Given the description of an element on the screen output the (x, y) to click on. 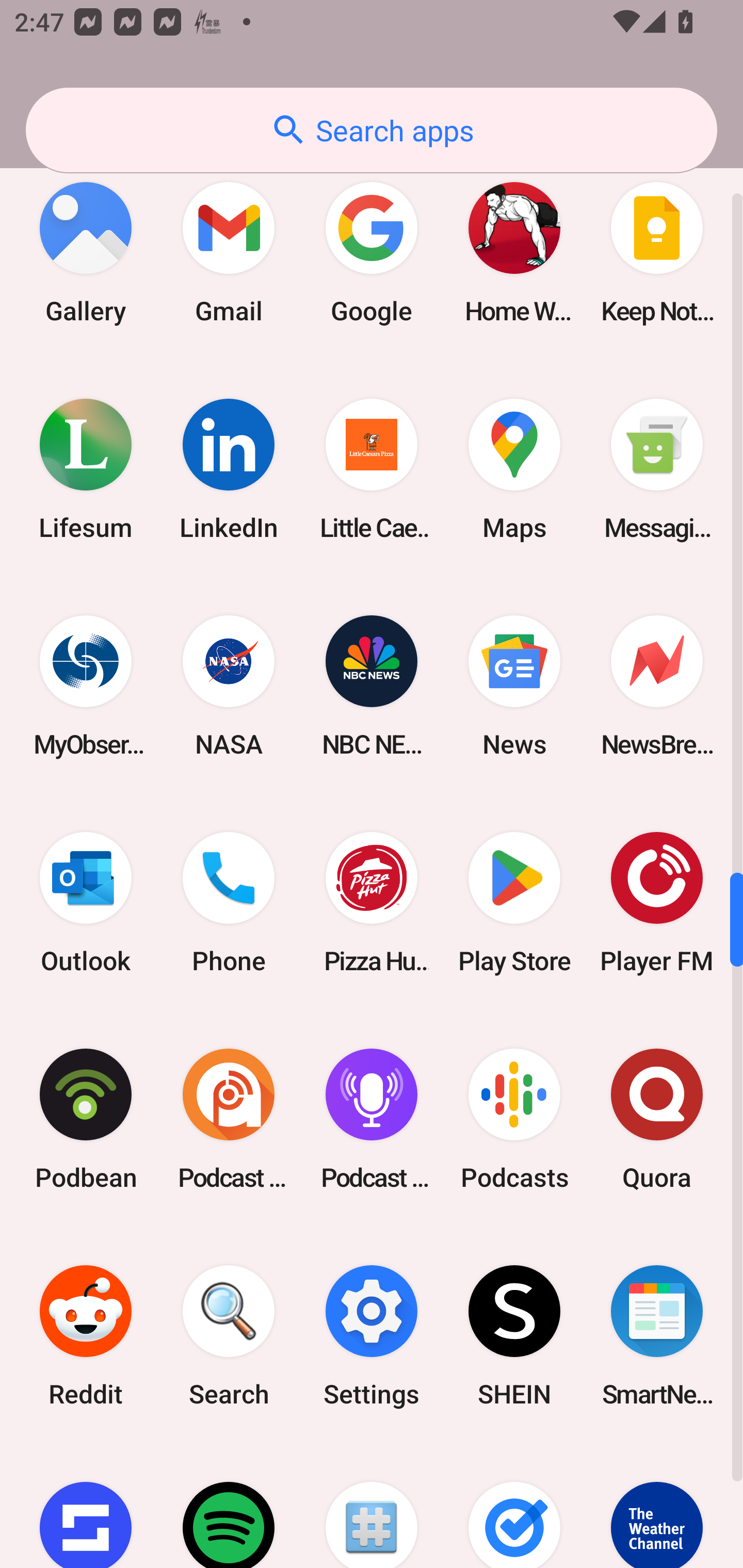
  Search apps (371, 130)
Gallery (85, 252)
Gmail (228, 252)
Google (371, 252)
Home Workout (514, 252)
Keep Notes (656, 252)
Lifesum (85, 468)
LinkedIn (228, 468)
Little Caesars Pizza (371, 468)
Maps (514, 468)
Messaging (656, 468)
MyObservatory (85, 685)
NASA (228, 685)
NBC NEWS (371, 685)
News (514, 685)
NewsBreak (656, 685)
Outlook (85, 902)
Phone (228, 902)
Pizza Hut HK & Macau (371, 902)
Play Store (514, 902)
Player FM (656, 902)
Podbean (85, 1119)
Podcast Addict (228, 1119)
Podcast Player (371, 1119)
Podcasts (514, 1119)
Quora (656, 1119)
Reddit (85, 1335)
Search (228, 1335)
Settings (371, 1335)
SHEIN (514, 1335)
SmartNews (656, 1335)
